Given the description of an element on the screen output the (x, y) to click on. 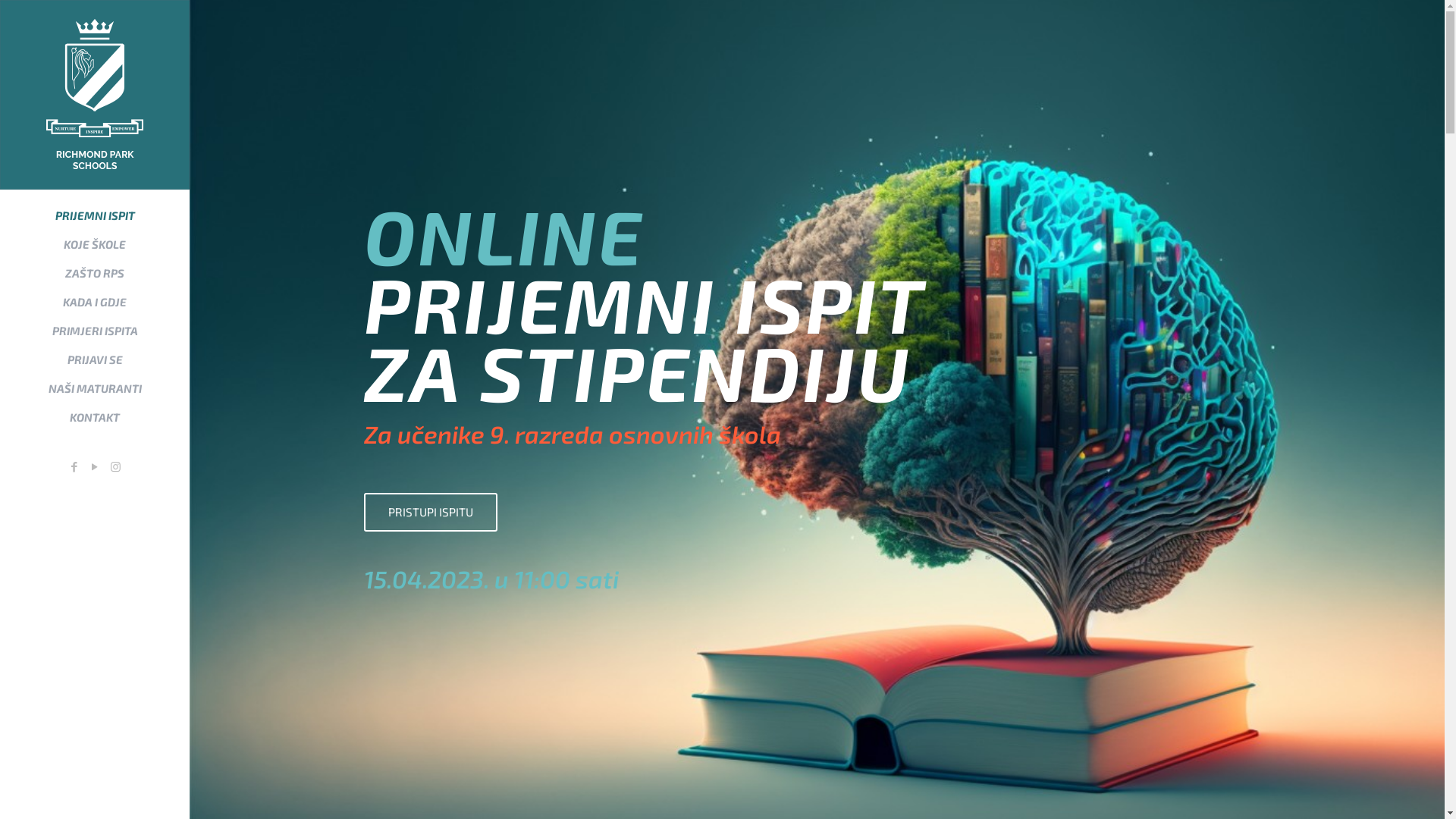
PRIJAVI SE Element type: text (94, 359)
KONTAKT Element type: text (94, 416)
PRISTUPI ISPITU Element type: text (430, 511)
PRIMJERI ISPITA Element type: text (94, 330)
Instagram Element type: hover (115, 466)
Facebook Element type: hover (74, 466)
YouTube Element type: hover (94, 466)
PRIJEMNI ISPIT Element type: text (94, 214)
KADA I GDJE Element type: text (94, 301)
